Given the description of an element on the screen output the (x, y) to click on. 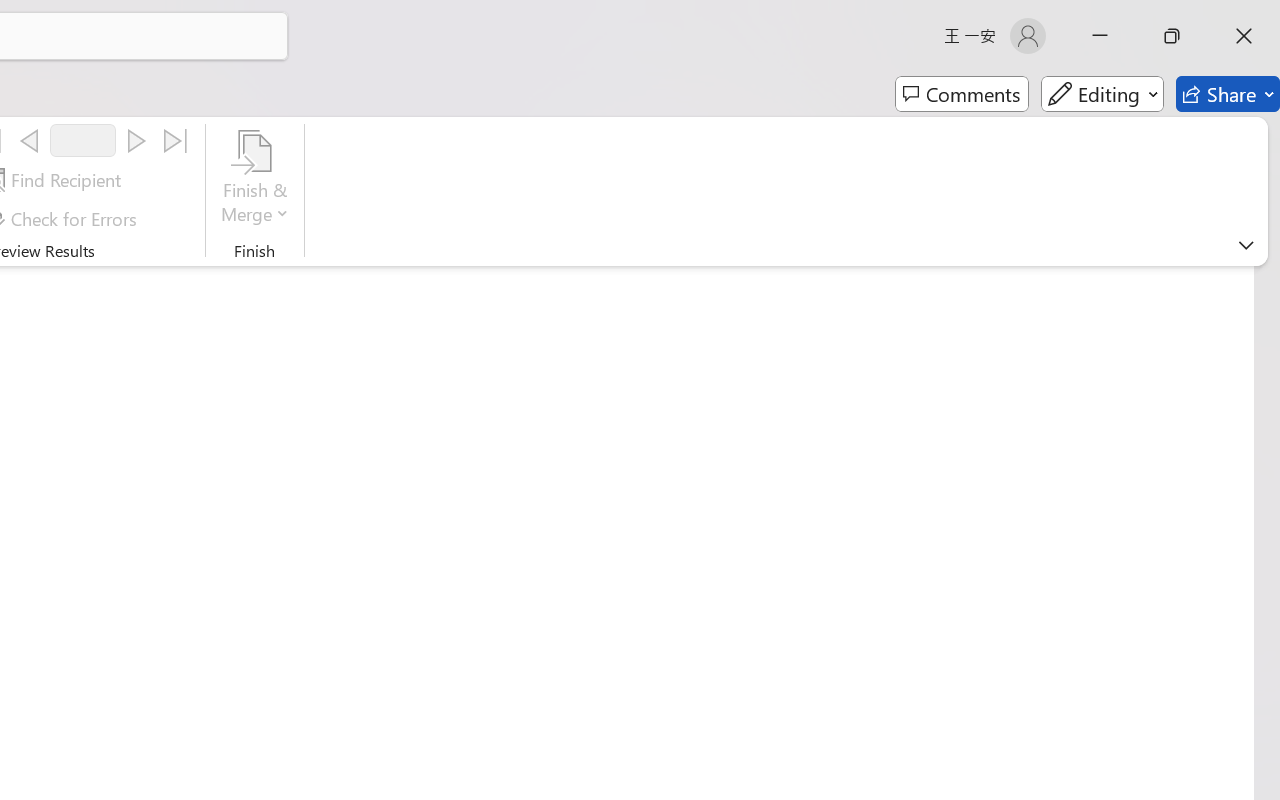
Last (175, 141)
Previous (29, 141)
Finish & Merge (255, 179)
Close (1244, 36)
Editing (1101, 94)
Comments (961, 94)
Share (1228, 94)
Next (136, 141)
Minimize (1099, 36)
Restore Down (1172, 36)
Ribbon Display Options (1246, 245)
Record (83, 140)
